Given the description of an element on the screen output the (x, y) to click on. 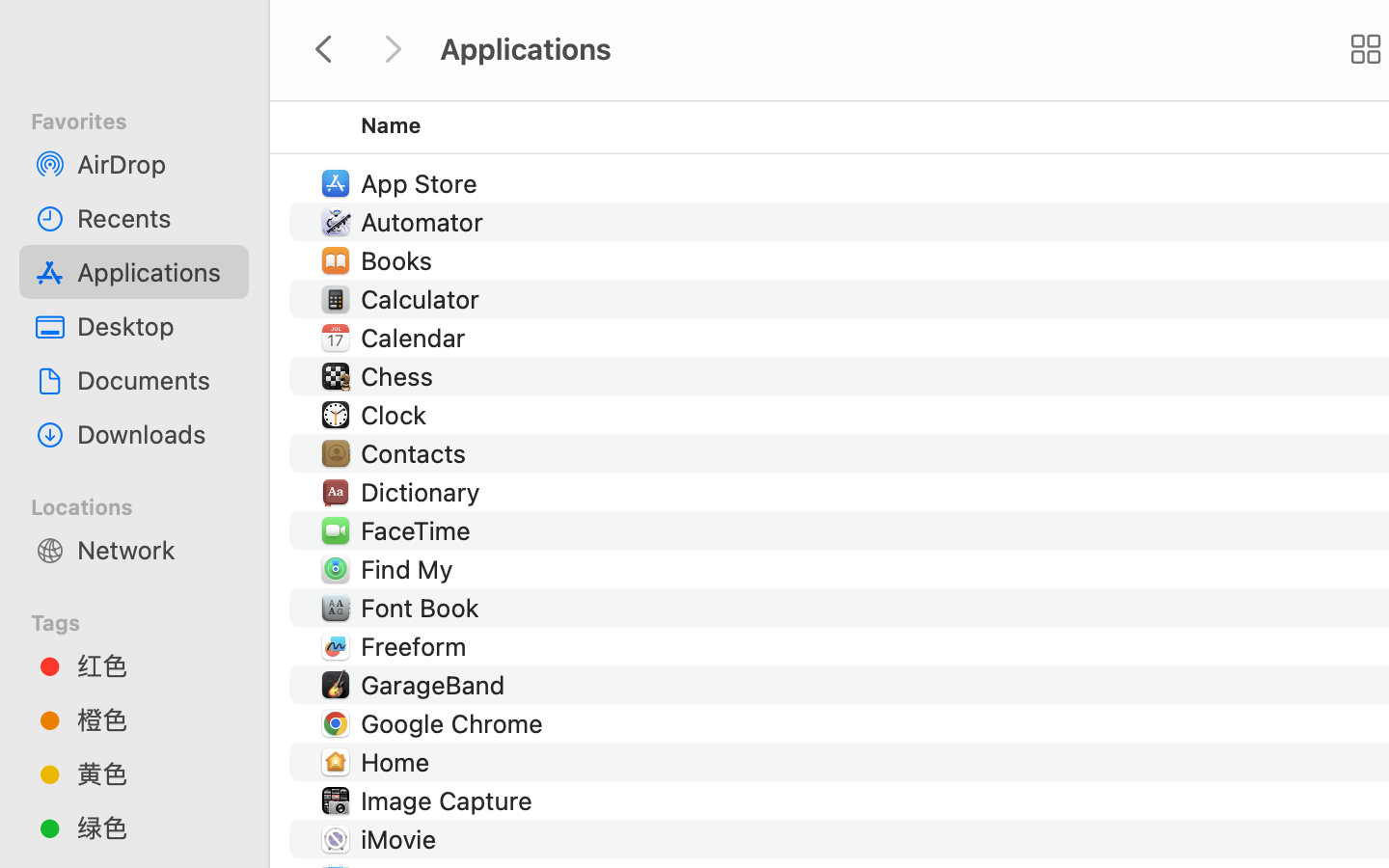
Chess Element type: AXTextField (400, 375)
Find My Element type: AXTextField (410, 568)
Clock Element type: AXTextField (397, 414)
Recents Element type: AXStaticText (155, 217)
Home Element type: AXTextField (398, 761)
